Given the description of an element on the screen output the (x, y) to click on. 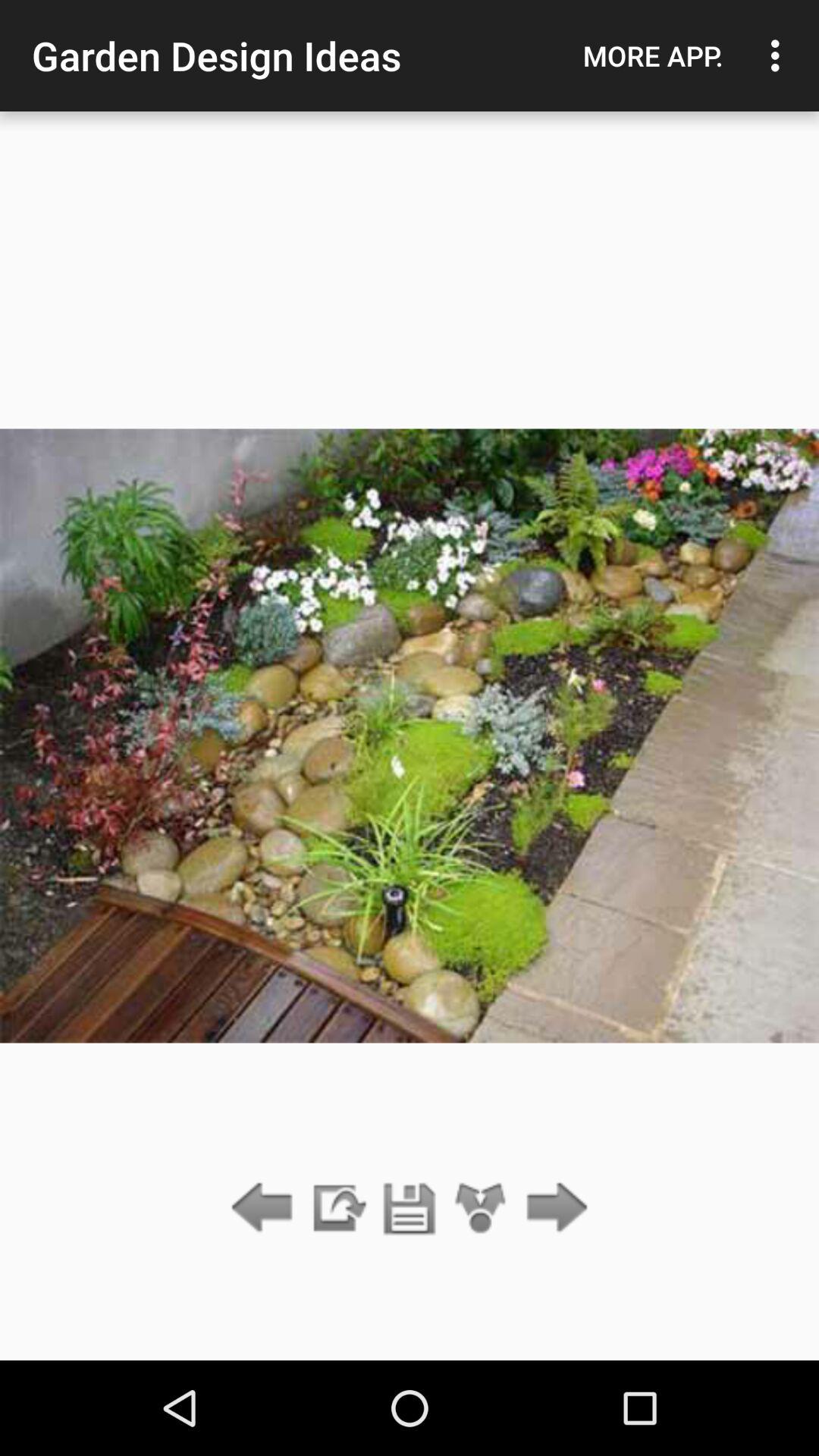
launch icon at the bottom right corner (552, 1209)
